Given the description of an element on the screen output the (x, y) to click on. 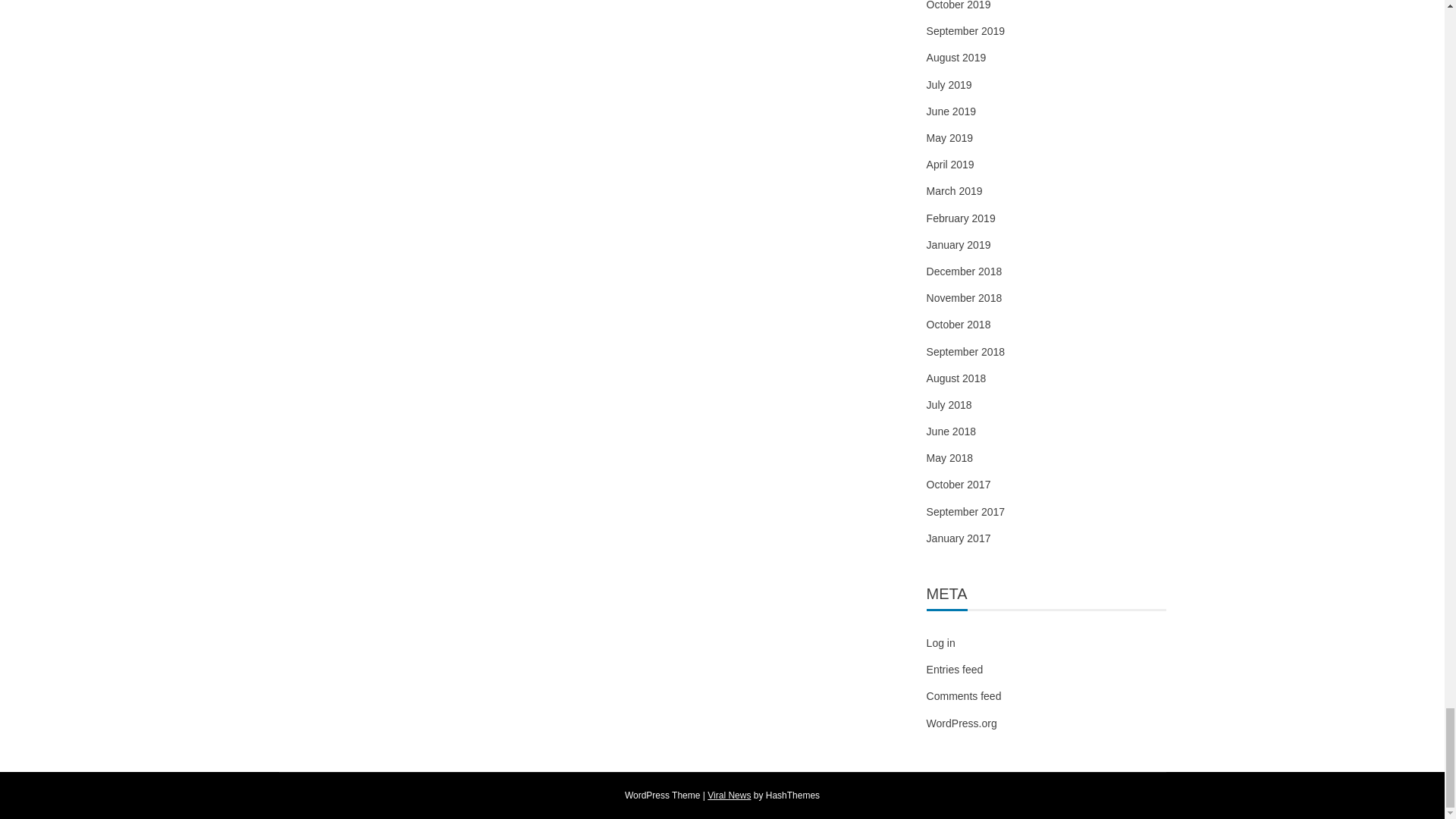
Download Viral News (729, 795)
